Given the description of an element on the screen output the (x, y) to click on. 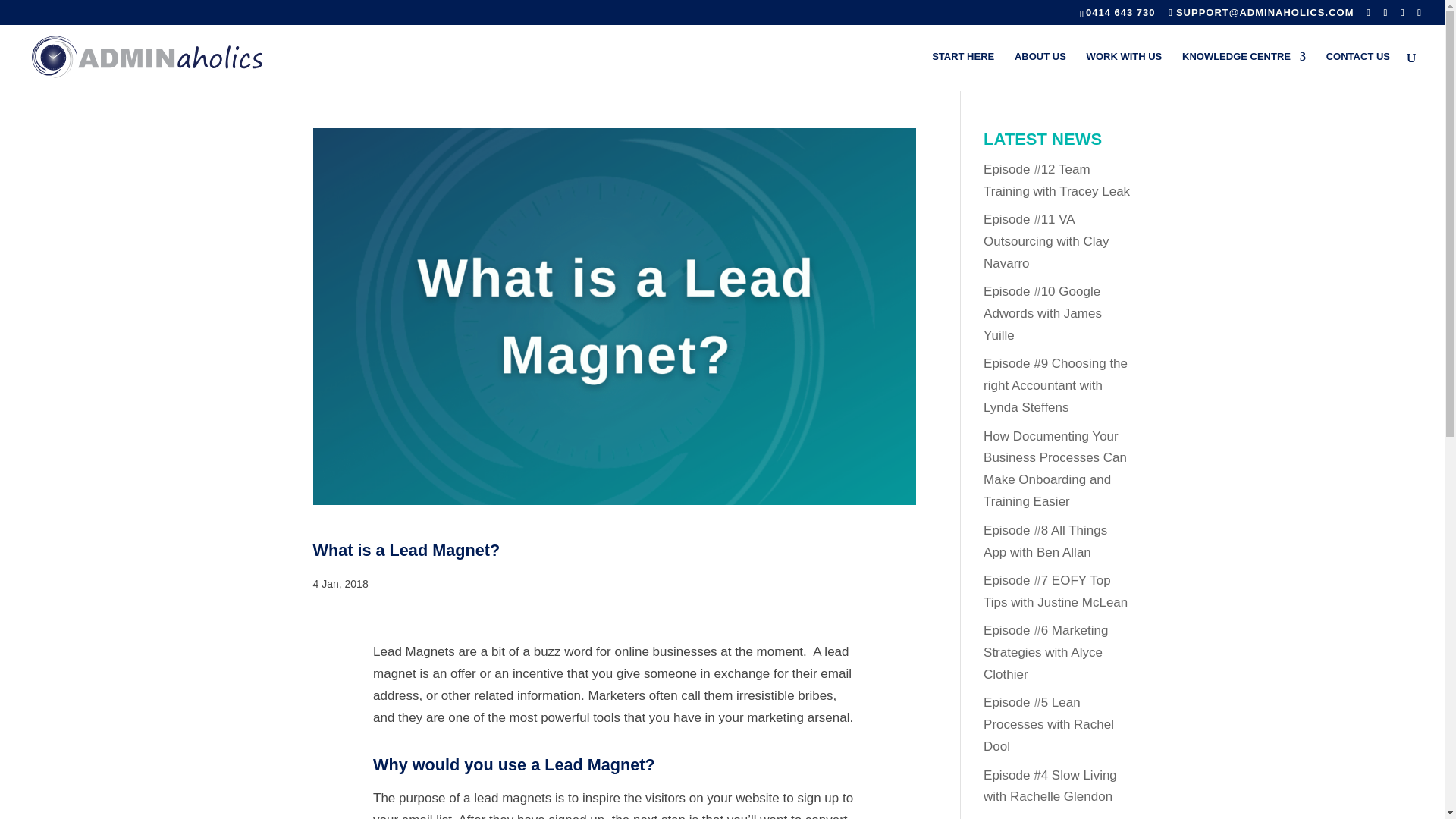
KNOWLEDGE CENTRE (1244, 70)
ABOUT US (1039, 70)
CONTACT US (1358, 70)
START HERE (962, 70)
WORK WITH US (1123, 70)
What is a Lead Magnet? (406, 549)
